Given the description of an element on the screen output the (x, y) to click on. 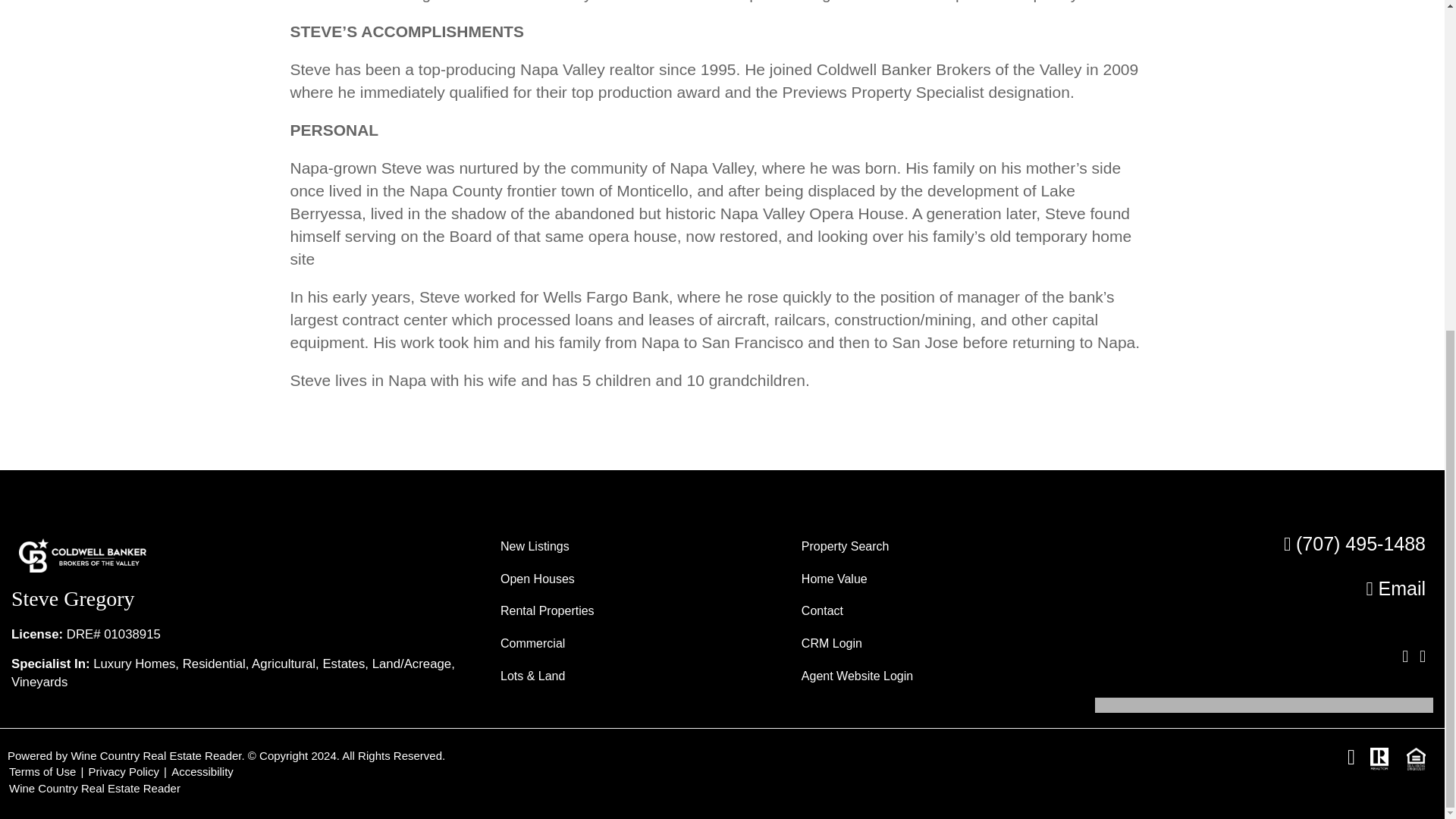
Email (1395, 588)
Terms of Use (42, 771)
CRM Login (932, 644)
New Listings (632, 546)
Property Search (932, 546)
Rental Properties (632, 611)
Accessibility (202, 771)
Commercial (632, 644)
Home Value (932, 579)
Agent Website Login (932, 676)
Privacy Policy (123, 771)
Contact (932, 611)
Wine Country Real Estate Reader (94, 788)
Open Houses (632, 579)
